Given the description of an element on the screen output the (x, y) to click on. 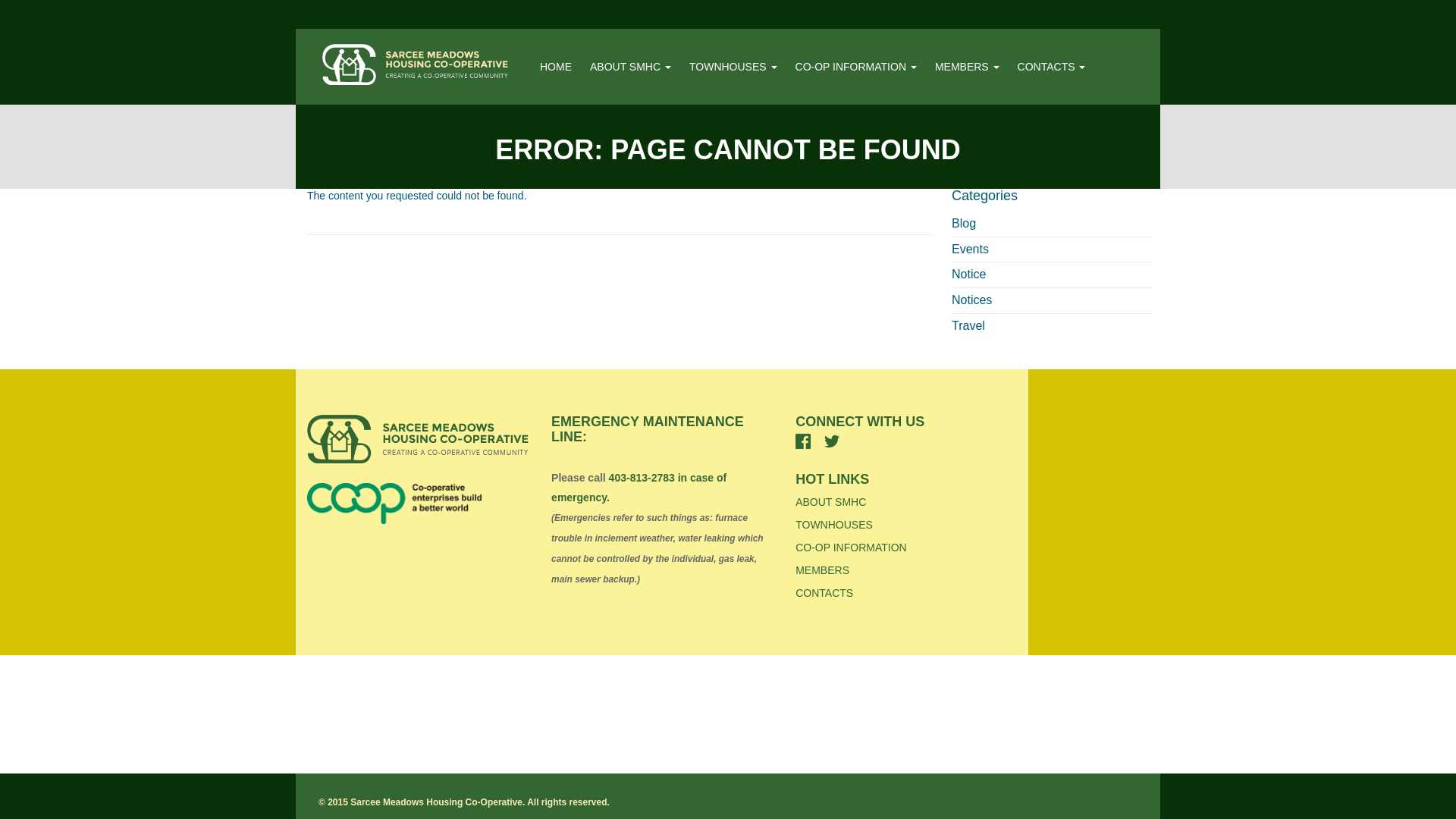
Notices (971, 299)
Sarcee Meadows Housing Co-Operative (414, 64)
Travel (968, 325)
Home (556, 66)
TOWNHOUSES (732, 66)
ABOUT SMHC (630, 66)
ABOUT SMHC (630, 66)
MEMBERS (967, 66)
Notice (968, 273)
Blog (963, 223)
